Given the description of an element on the screen output the (x, y) to click on. 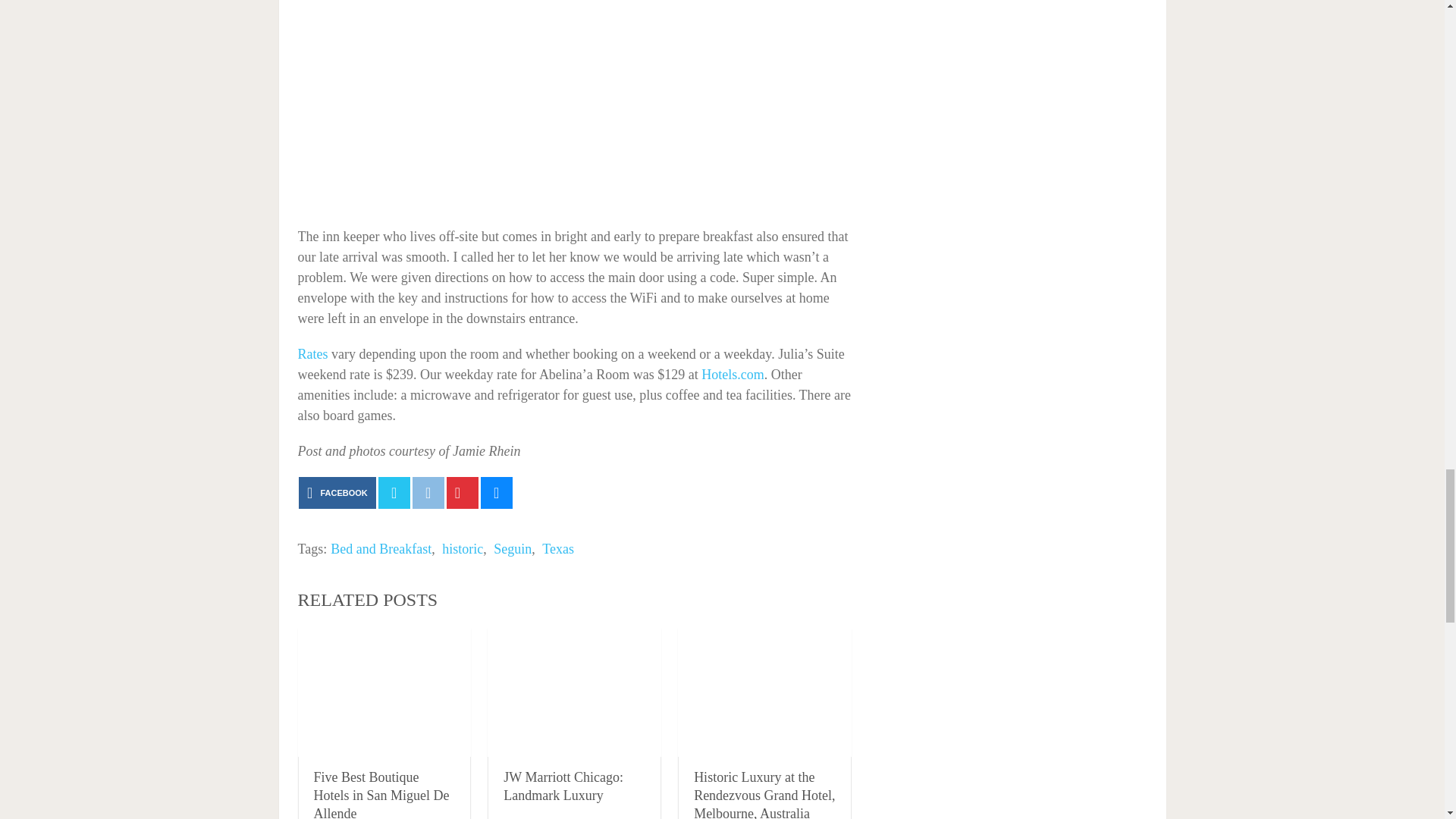
Five Best Boutique Hotels in San Miguel De Allende (381, 794)
Rates (312, 353)
JW Marriott Chicago: Landmark Luxury (574, 692)
Texas (557, 548)
Bed and Breakfast (380, 548)
Five Best Boutique Hotels in San Miguel De Allende (381, 794)
Five Best Boutique Hotels in San Miguel De Allende (383, 692)
JW Marriott Chicago: Landmark Luxury (563, 786)
FACEBOOK (336, 492)
Hotels.com (732, 374)
historic (462, 548)
Seguin (512, 548)
